Given the description of an element on the screen output the (x, y) to click on. 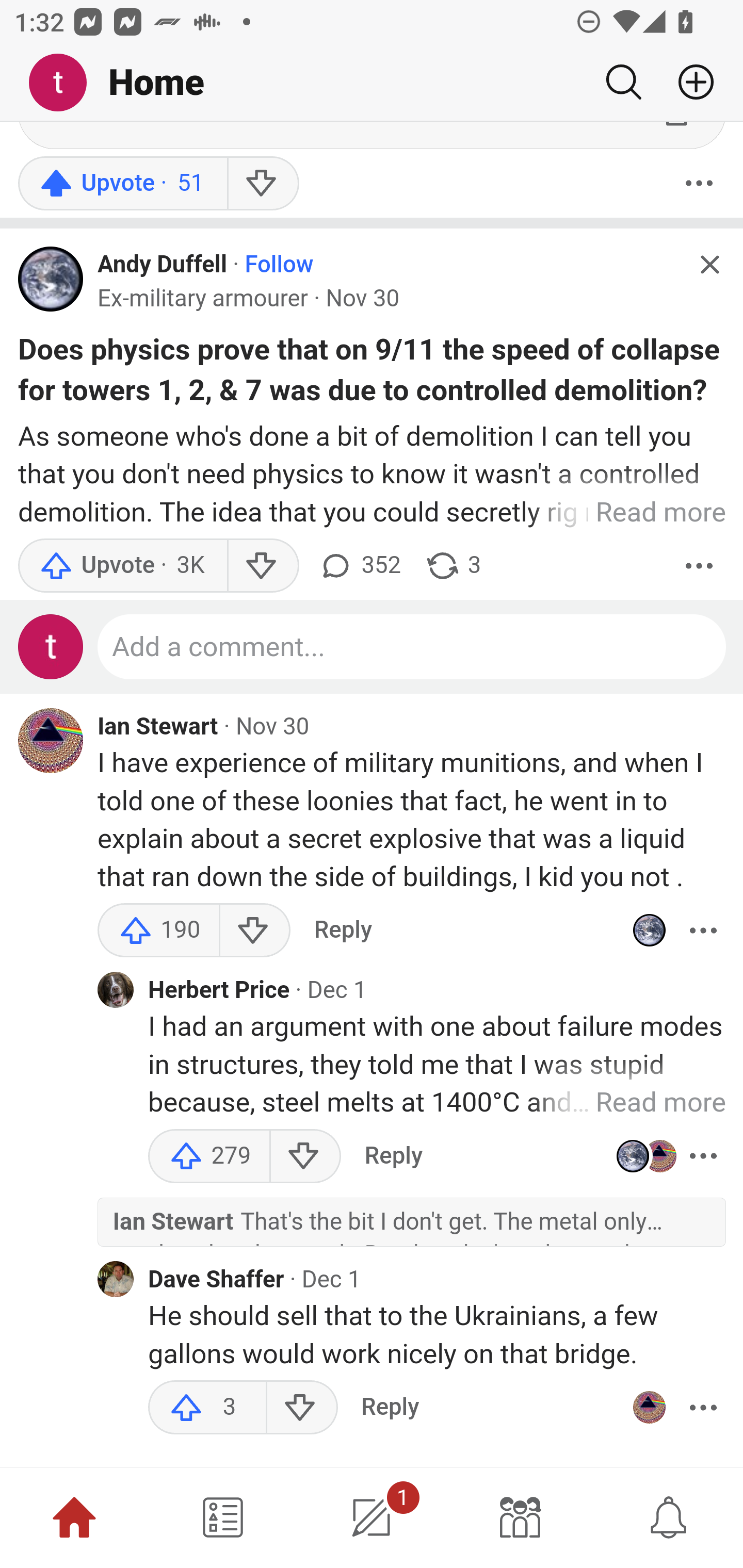
Me (64, 83)
Search (623, 82)
Add (688, 82)
Upvote (122, 184)
Downvote (262, 184)
More (699, 184)
Hide (709, 267)
Profile photo for Andy Duffell (50, 280)
Andy Duffell (162, 266)
Follow (278, 266)
Upvote (122, 566)
Downvote (262, 566)
352 comments (359, 566)
3 shares (452, 566)
More (699, 566)
Profile photo for Test Appium (50, 648)
Add a comment... (412, 648)
Profile photo for Ian Stewart (50, 742)
Ian Stewart (157, 728)
190 upvotes (158, 932)
Downvote (253, 932)
Reply (342, 932)
Profile photo for Andy Duffell (648, 932)
More (703, 932)
Profile photo for Herbert Price (115, 991)
Herbert Price (218, 992)
279 upvotes (209, 1156)
Downvote (304, 1156)
Reply (393, 1156)
More (703, 1156)
Profile photo for Dave Shaffer (115, 1280)
Dave Shaffer (216, 1280)
3 upvotes (207, 1409)
Downvote (302, 1409)
Reply (389, 1409)
Profile photo for Ian Stewart (648, 1409)
More (703, 1409)
1 (371, 1517)
